Given the description of an element on the screen output the (x, y) to click on. 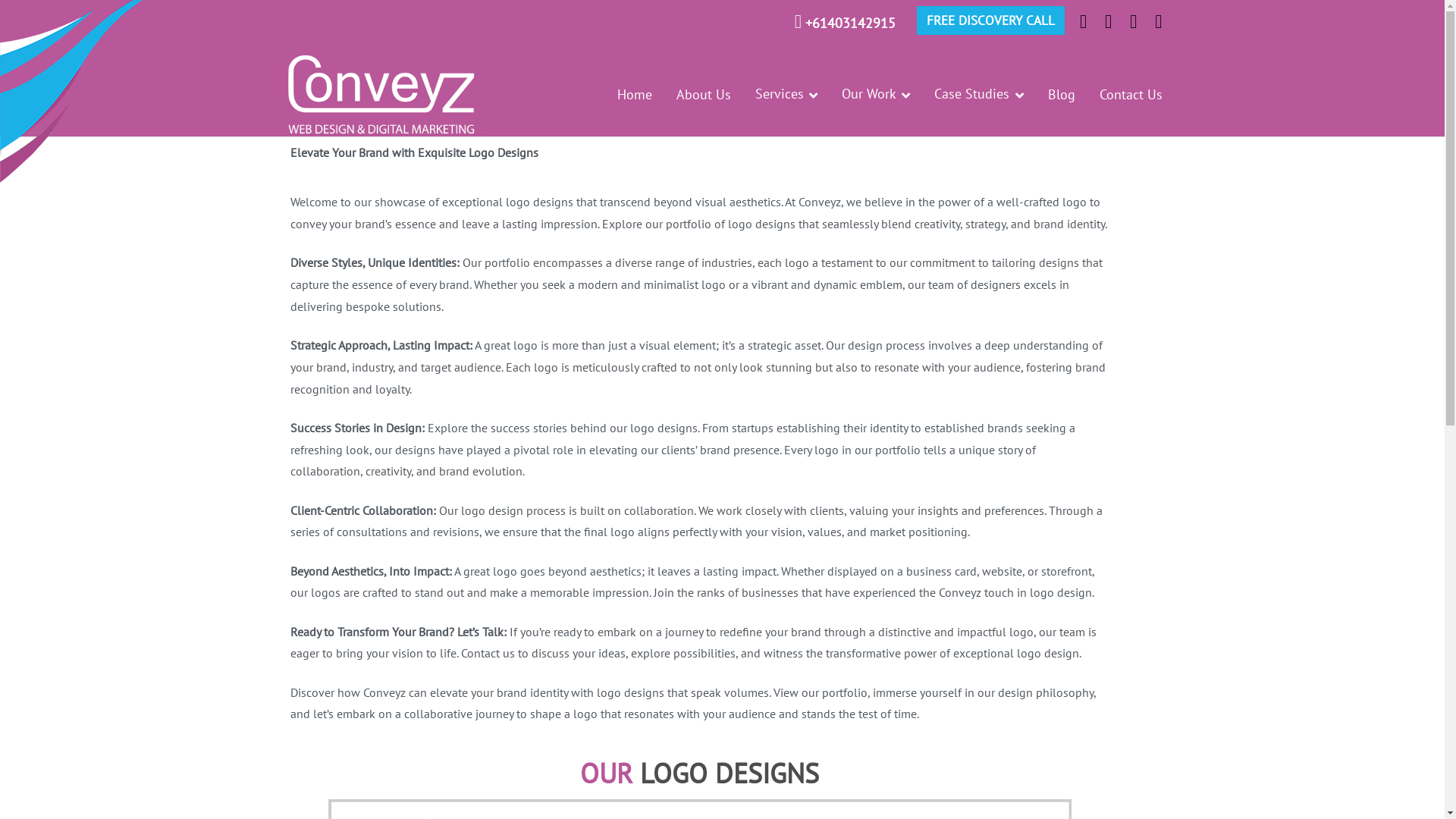
Services Element type: text (786, 94)
Blog Element type: text (1061, 94)
Home Element type: text (634, 94)
Our Work Element type: text (875, 94)
FREE DISCOVERY CALL Element type: text (990, 20)
About Us Element type: text (703, 94)
SEO Services in Brisbane | Web Design & Development Brisbane Element type: text (689, 105)
+61403142915 Element type: text (850, 22)
Contact Us Element type: text (1130, 94)
Case Studies Element type: text (978, 94)
